Given the description of an element on the screen output the (x, y) to click on. 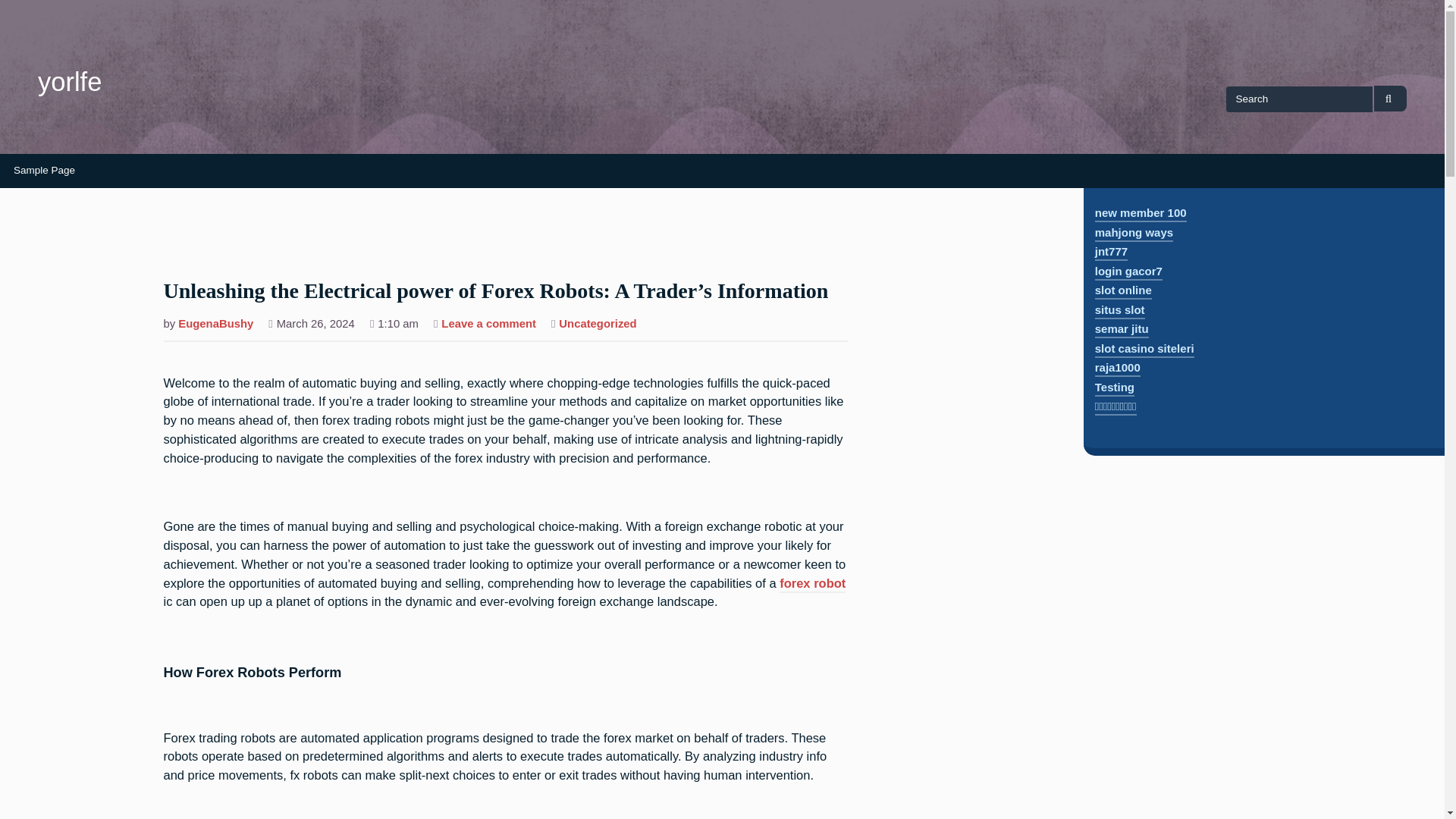
mahjong ways (1133, 233)
slot online (1122, 291)
situs slot (1119, 311)
Sample Page (44, 170)
yorlfe (69, 81)
EugenaBushy (215, 324)
Testing (1114, 388)
login gacor7 (1127, 272)
Uncategorized (597, 324)
slot casino siteleri (1143, 349)
Posts by EugenaBushy (215, 324)
jnt777 (1110, 252)
new member 100 (1140, 213)
raja1000 (1117, 368)
